Given the description of an element on the screen output the (x, y) to click on. 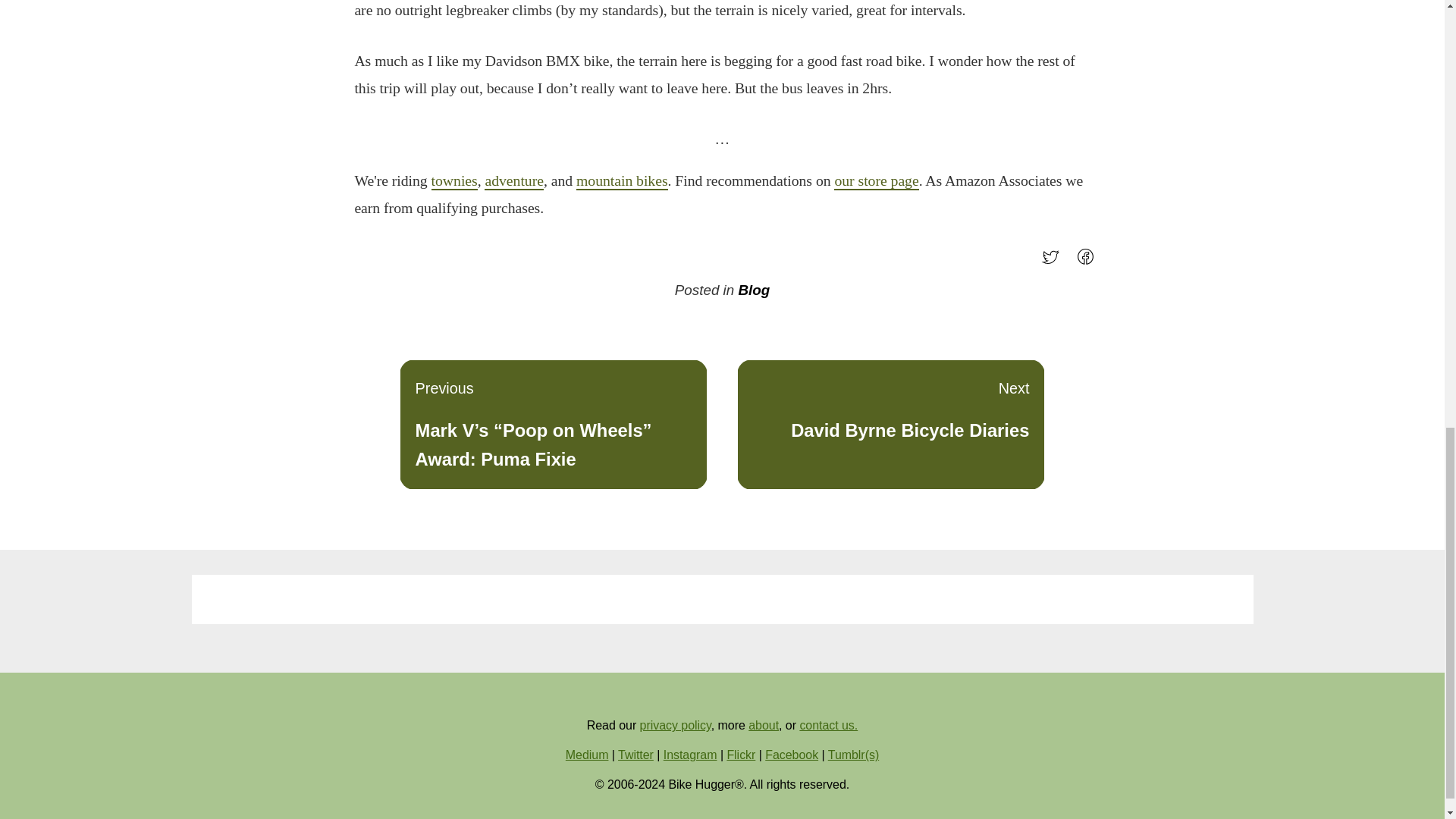
Blog (754, 289)
contact us. (828, 725)
adventure (513, 180)
about (763, 725)
Twitter (635, 754)
Tweet (1054, 262)
mountain bikes (622, 180)
townies (453, 180)
Medium (587, 754)
Share on Facebook (1089, 262)
